Given the description of an element on the screen output the (x, y) to click on. 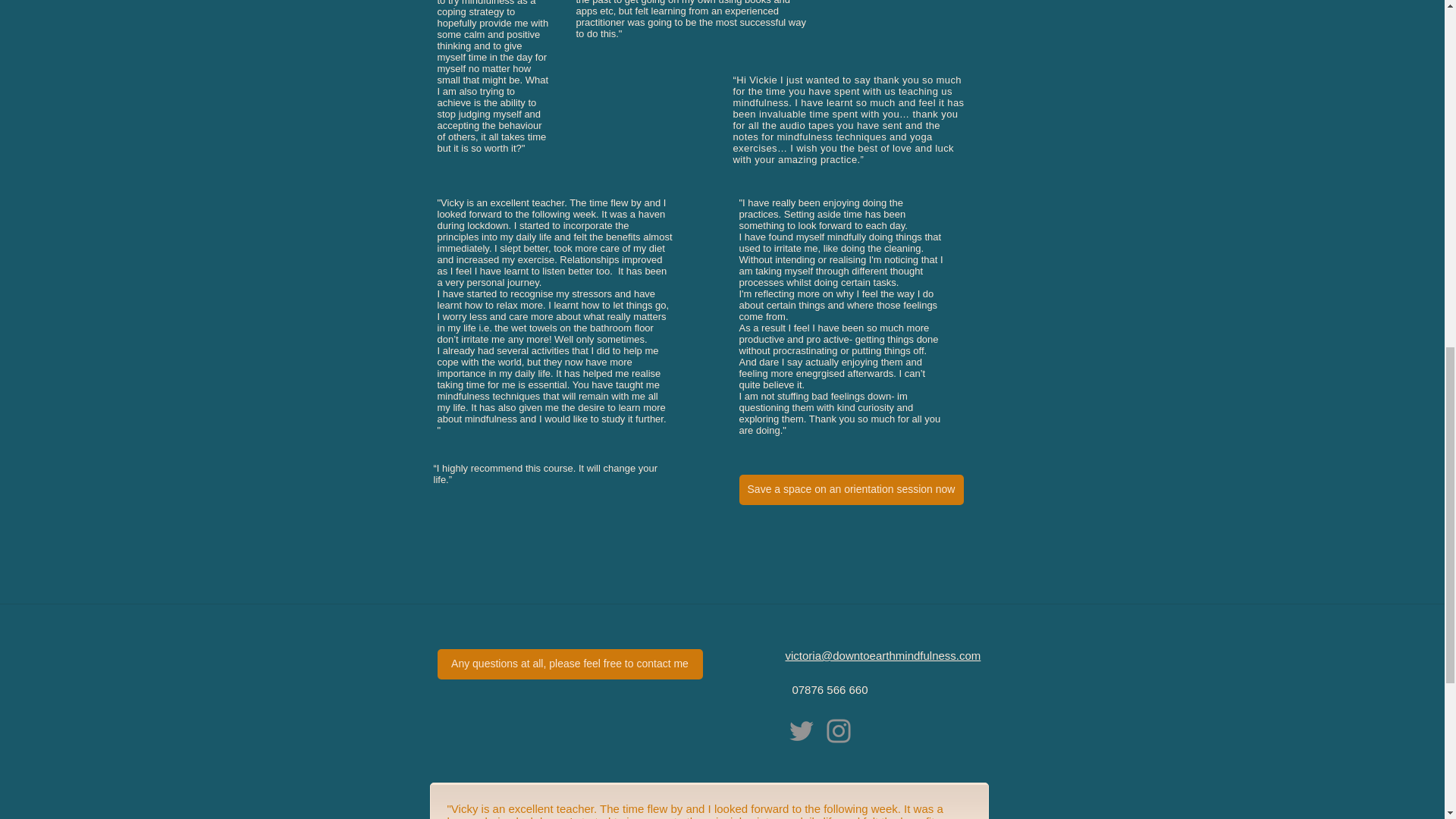
Any questions at all, please feel free to contact me (568, 664)
Save a space on an orientation session now (850, 490)
